Given the description of an element on the screen output the (x, y) to click on. 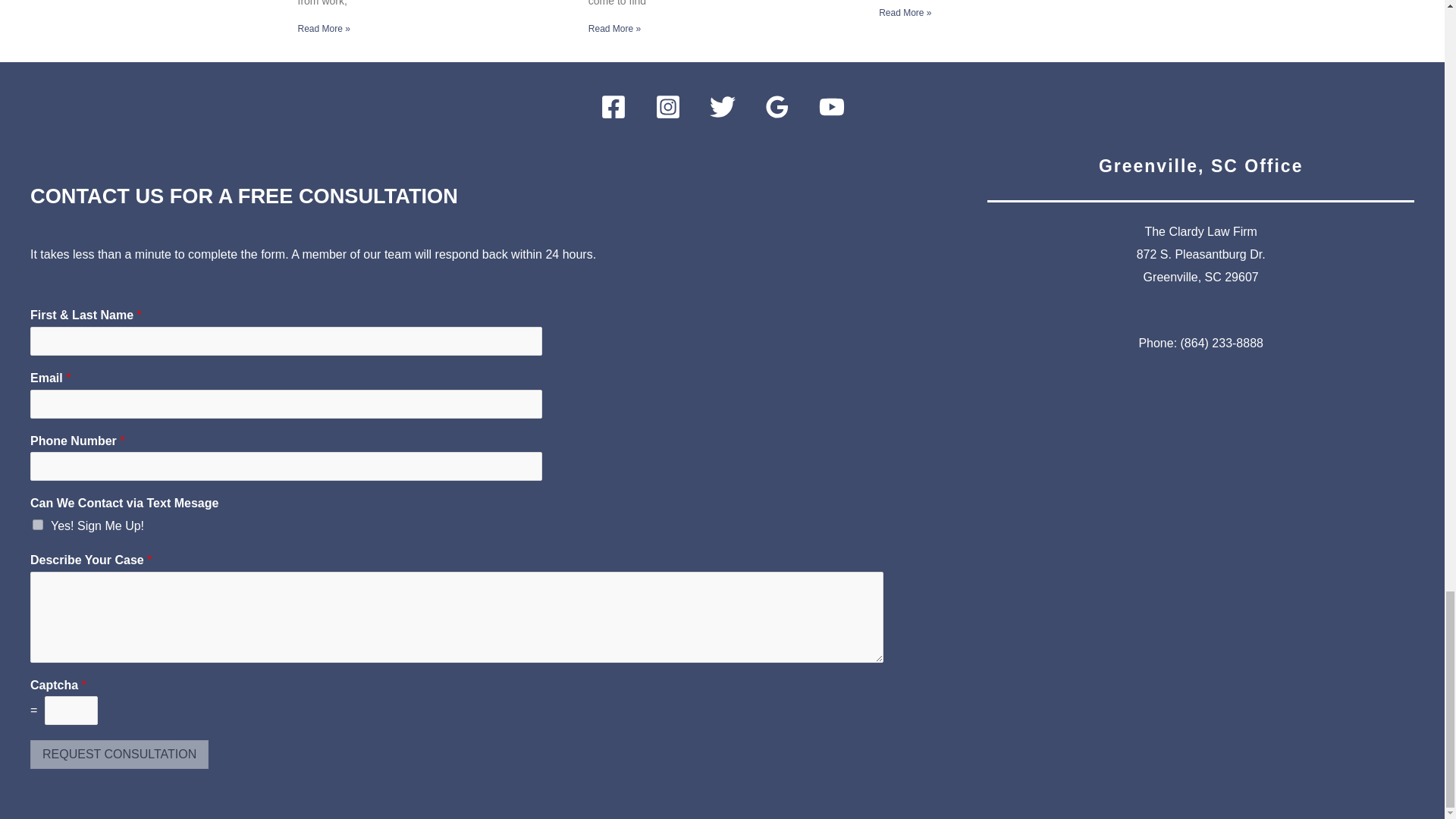
Yes! Sign Me Up! (37, 524)
